Given the description of an element on the screen output the (x, y) to click on. 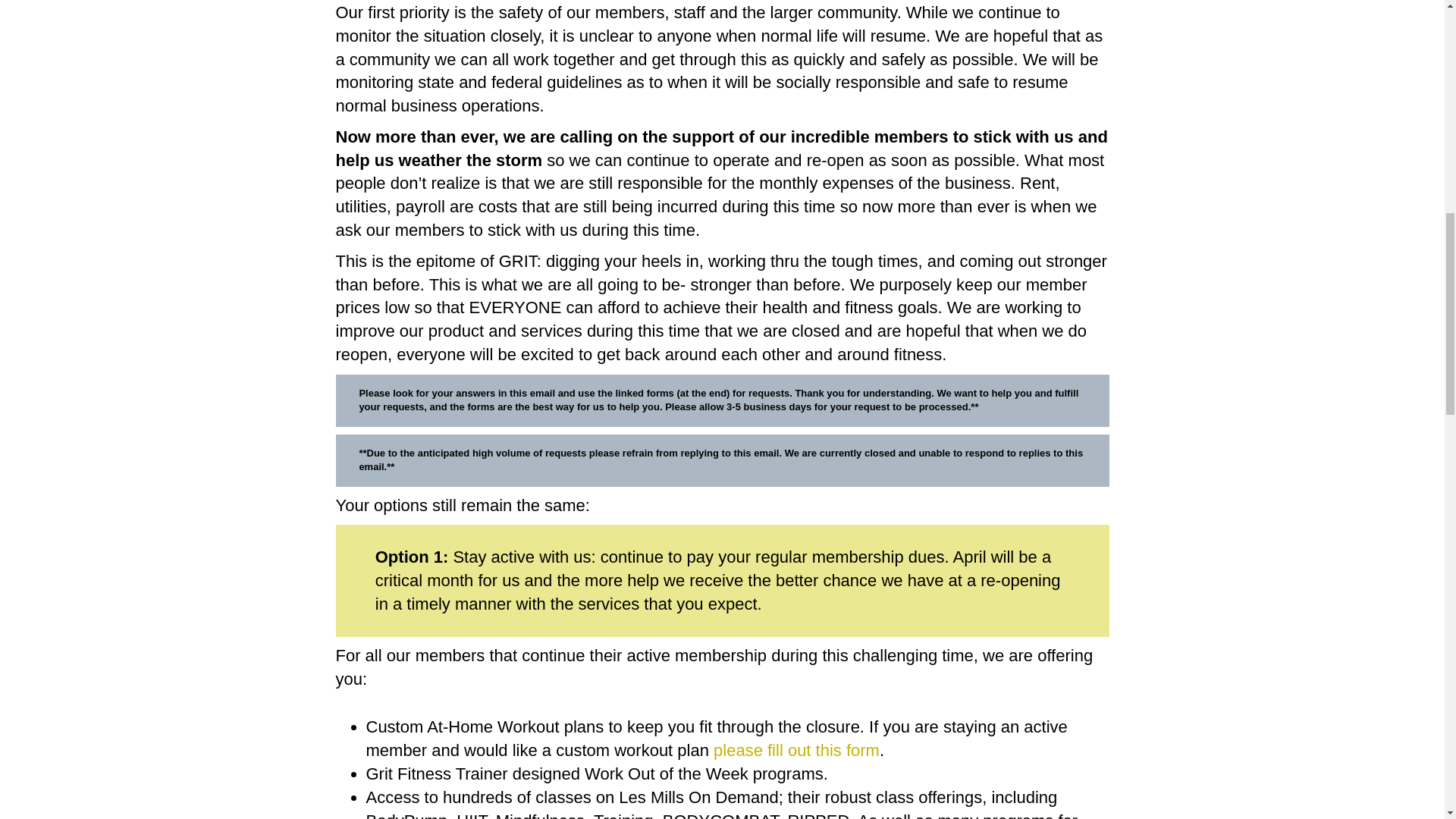
please fill out this form (796, 750)
